Given the description of an element on the screen output the (x, y) to click on. 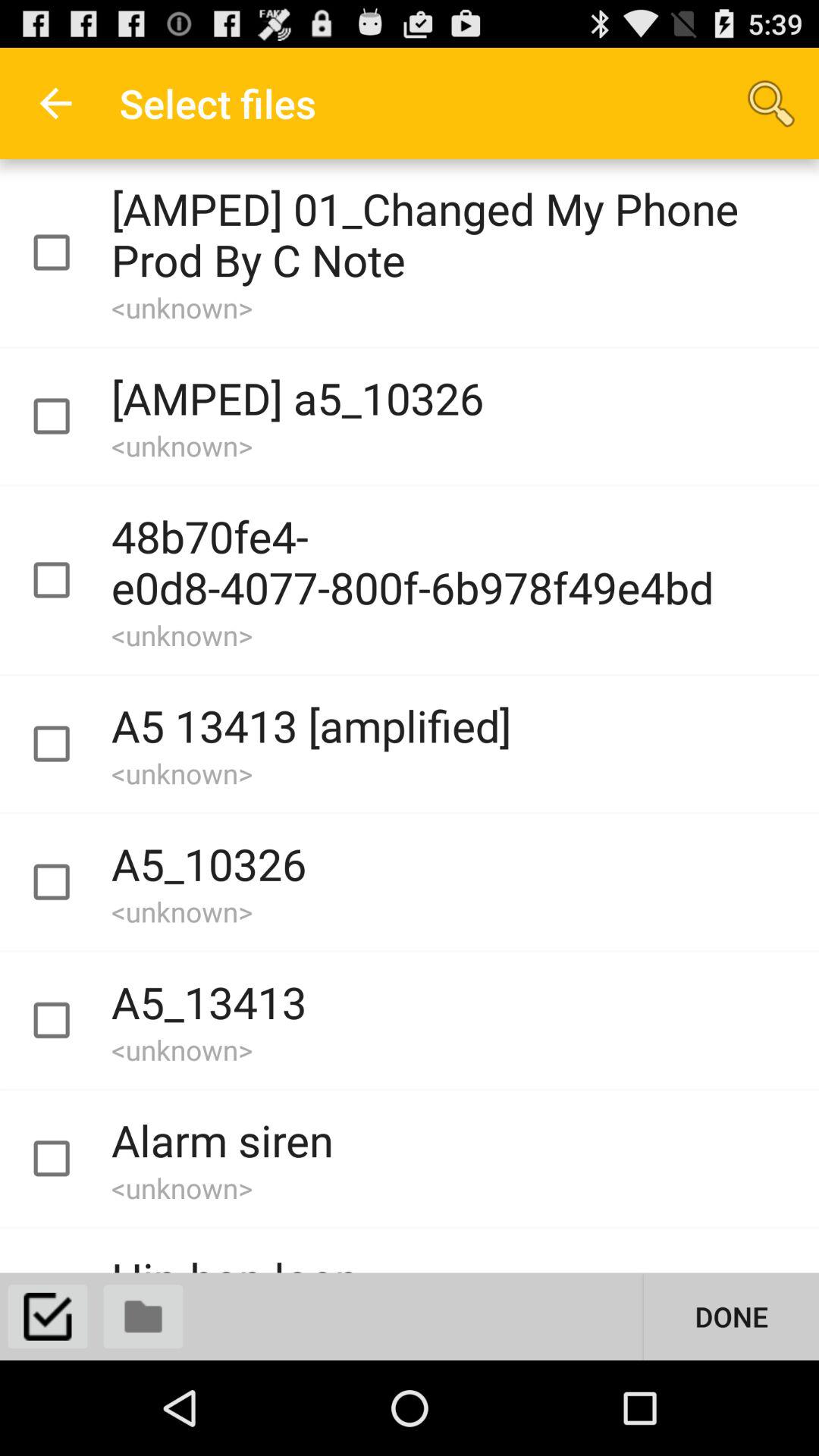
turn on icon to the left of the select files app (55, 103)
